Given the description of an element on the screen output the (x, y) to click on. 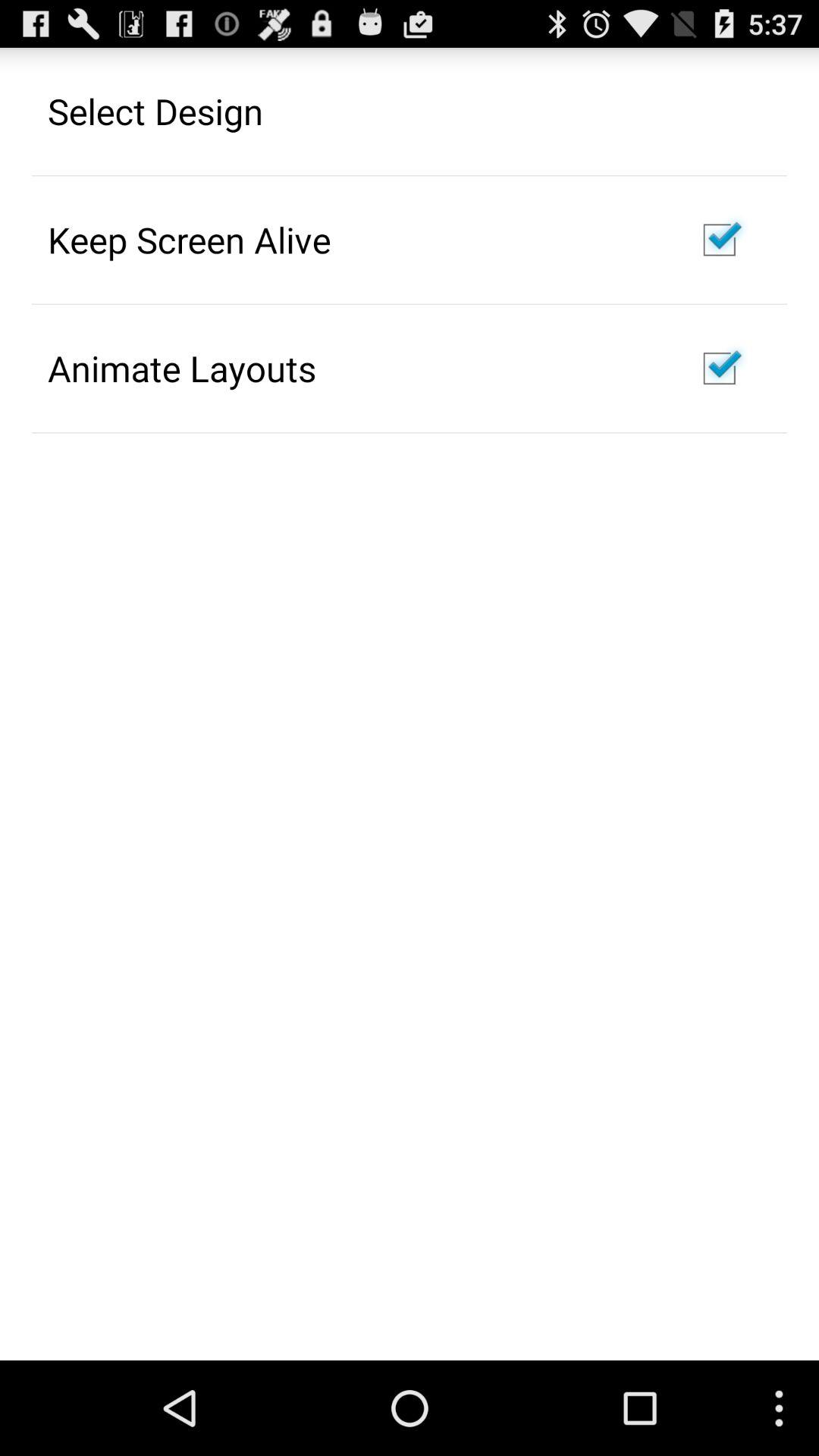
swipe to keep screen alive icon (189, 239)
